Given the description of an element on the screen output the (x, y) to click on. 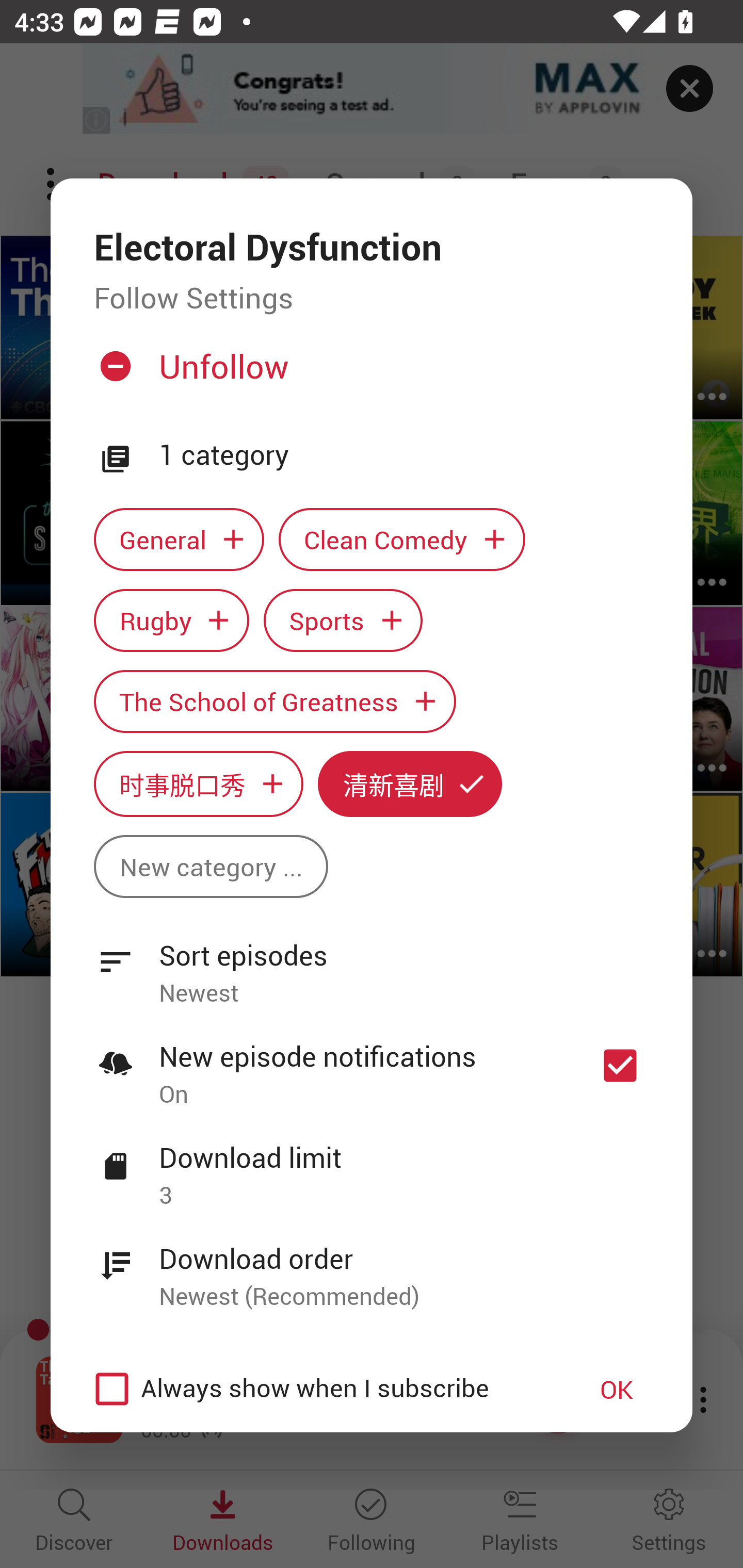
Unfollow (369, 374)
1 category (404, 455)
General (178, 539)
Clean Comedy (401, 539)
Rugby (170, 620)
Sports (342, 620)
The School of Greatness (274, 700)
时事脱口秀 (198, 783)
清新喜剧 (410, 783)
New category ... (210, 866)
Sort episodes Newest (371, 962)
New episode notifications (620, 1065)
Download limit 3 (371, 1164)
Download order Newest (Recommended) (371, 1266)
OK (616, 1388)
Always show when I subscribe (320, 1388)
